Given the description of an element on the screen output the (x, y) to click on. 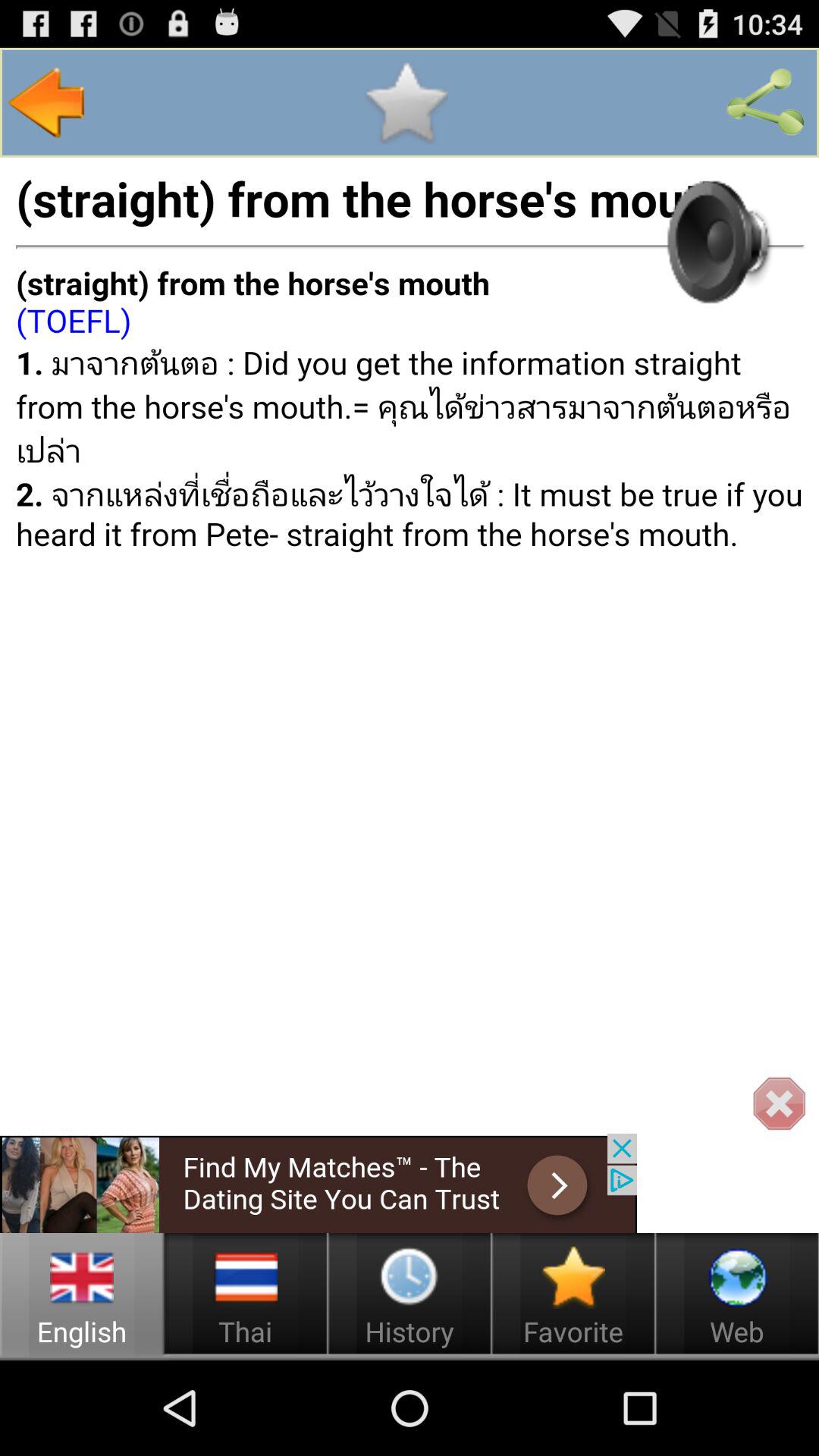
add to favorites button (406, 102)
